Given the description of an element on the screen output the (x, y) to click on. 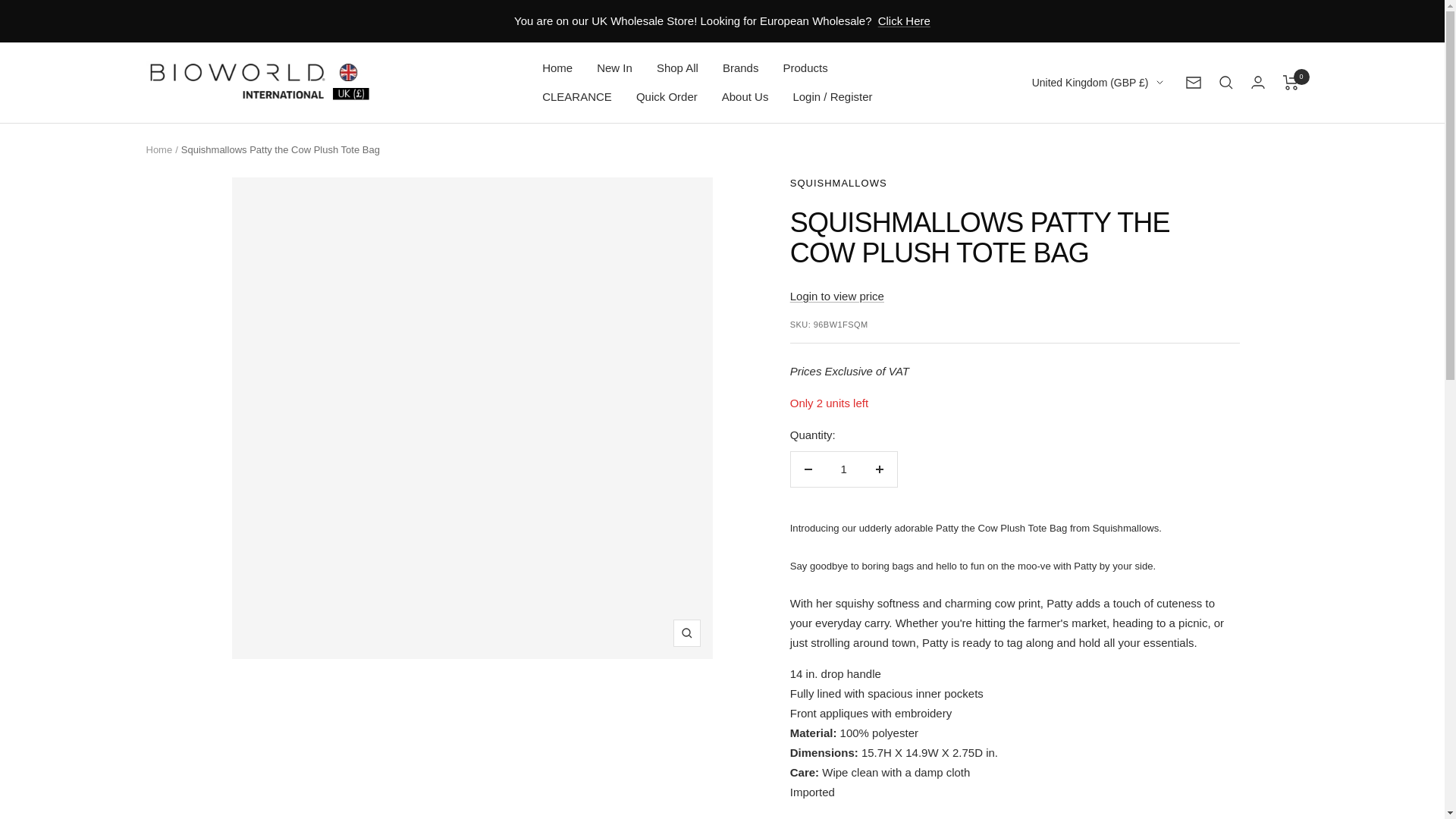
GB (1087, 159)
Click Here (903, 21)
CLEARANCE (576, 96)
0 (1290, 82)
Products (805, 67)
1 (843, 469)
Brands (740, 67)
Quick Order (666, 96)
JE (1087, 134)
Shop All (677, 67)
Home (556, 67)
Bioworld International UK (258, 82)
About Us (745, 96)
New In (613, 67)
Newsletter (1193, 82)
